Given the description of an element on the screen output the (x, y) to click on. 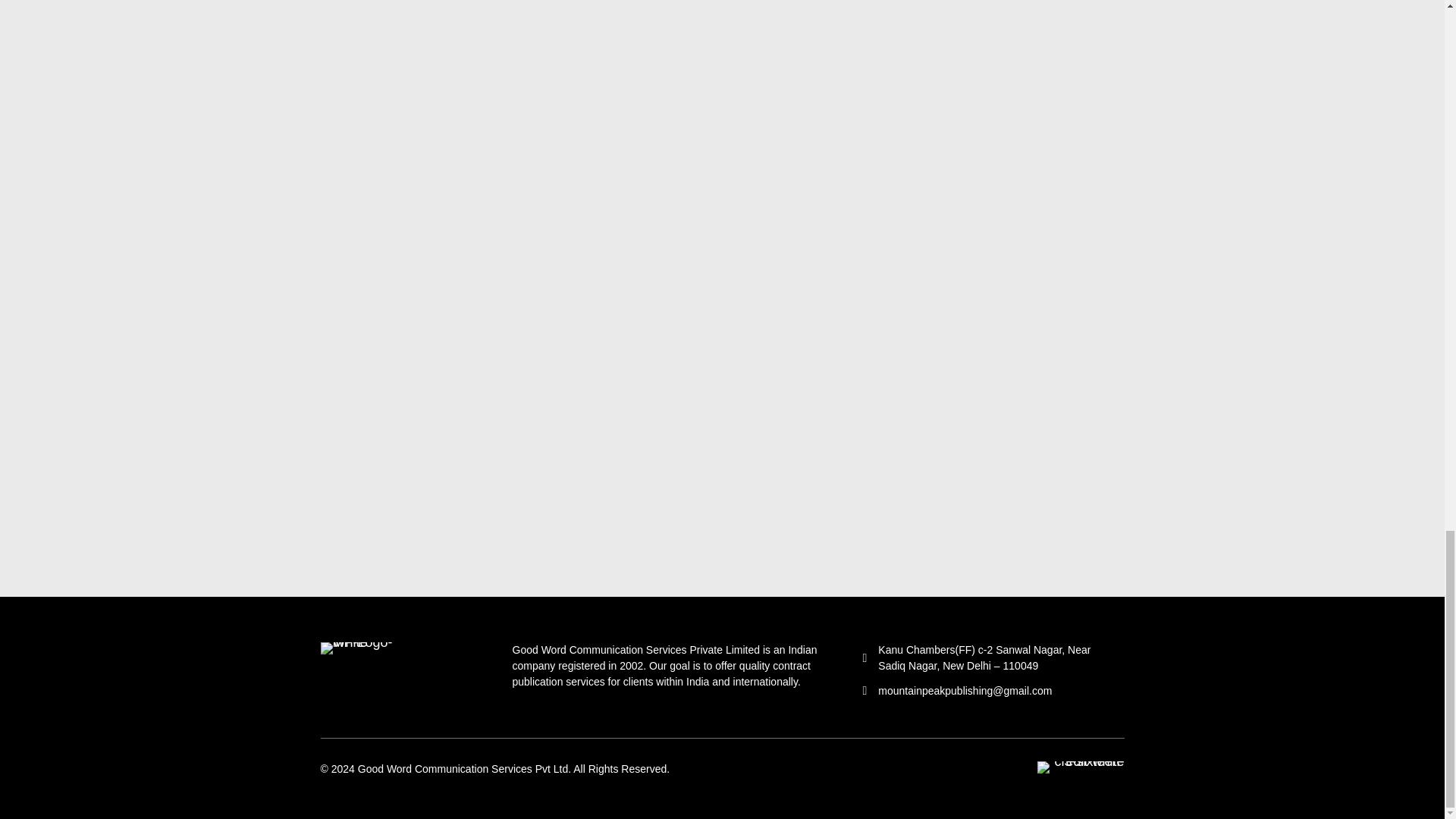
MP-Logo-White (365, 648)
3-sixteen-credit-white (1080, 767)
